Given the description of an element on the screen output the (x, y) to click on. 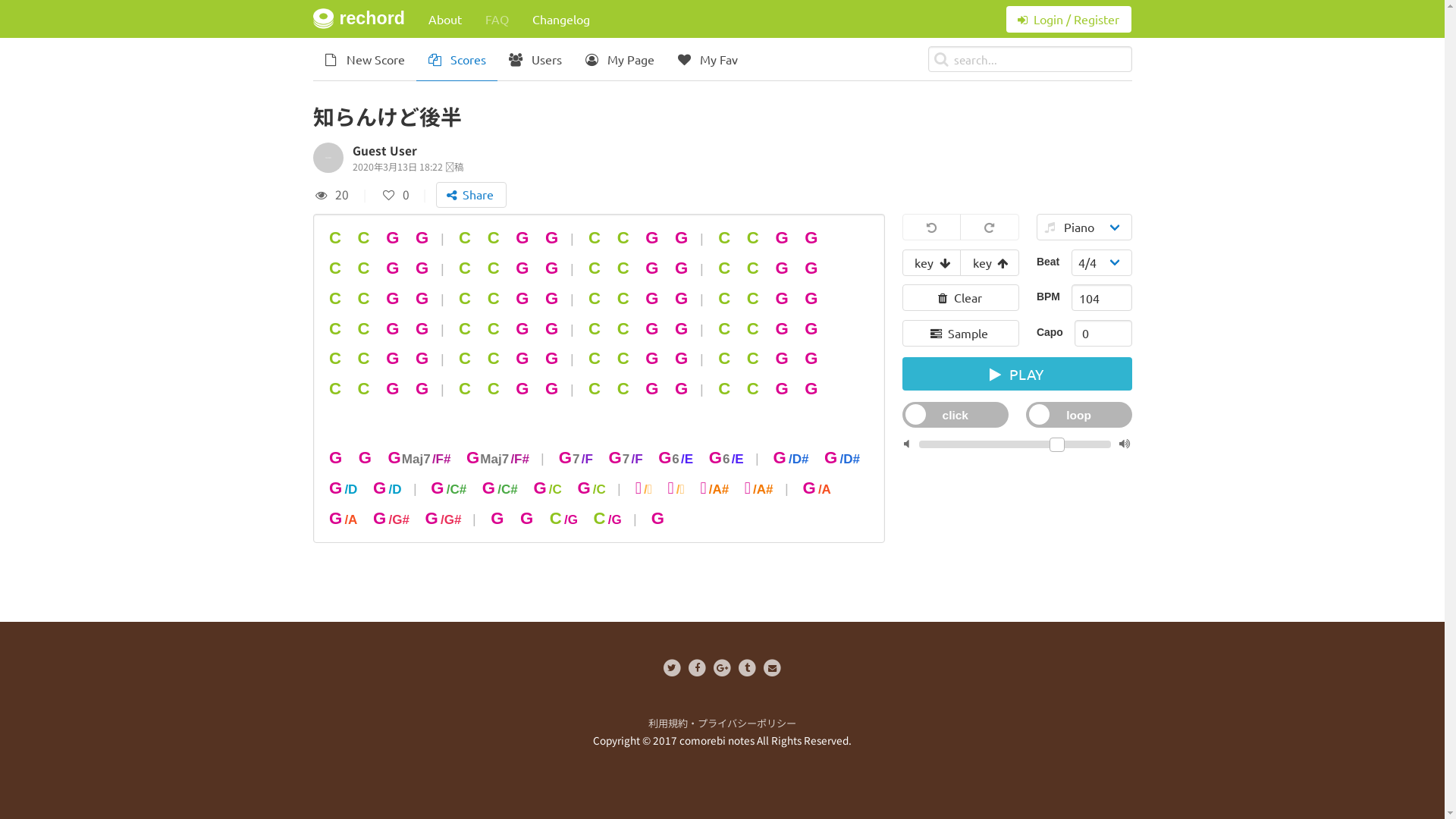
Sample Element type: text (960, 333)
Login / Register Element type: text (1068, 19)
key Element type: text (931, 262)
Scores Element type: text (456, 58)
Share Element type: text (471, 195)
New Score Element type: text (364, 58)
rechord Element type: text (358, 18)
About Element type: text (444, 18)
key Element type: text (989, 262)
My Fav Element type: text (707, 58)
Clear Element type: text (960, 297)
PLAY Element type: text (1017, 373)
Users Element type: text (535, 58)
My Page Element type: text (619, 58)
Changelog Element type: text (560, 18)
